Given the description of an element on the screen output the (x, y) to click on. 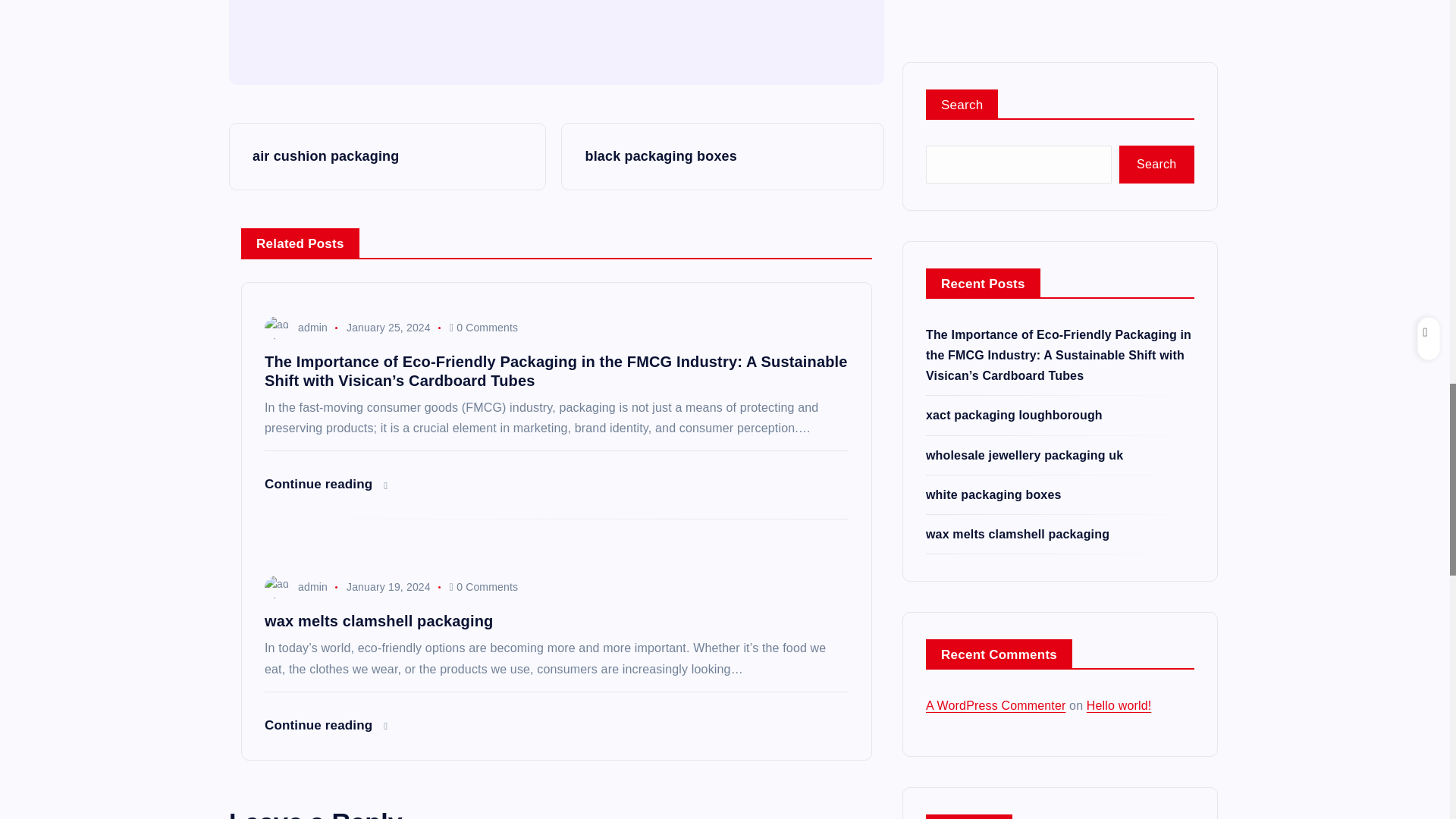
admin (295, 586)
black packaging boxes (721, 156)
Continue reading (325, 483)
air cushion packaging (387, 156)
admin (373, 1)
Continue reading (325, 725)
admin (295, 327)
